Given the description of an element on the screen output the (x, y) to click on. 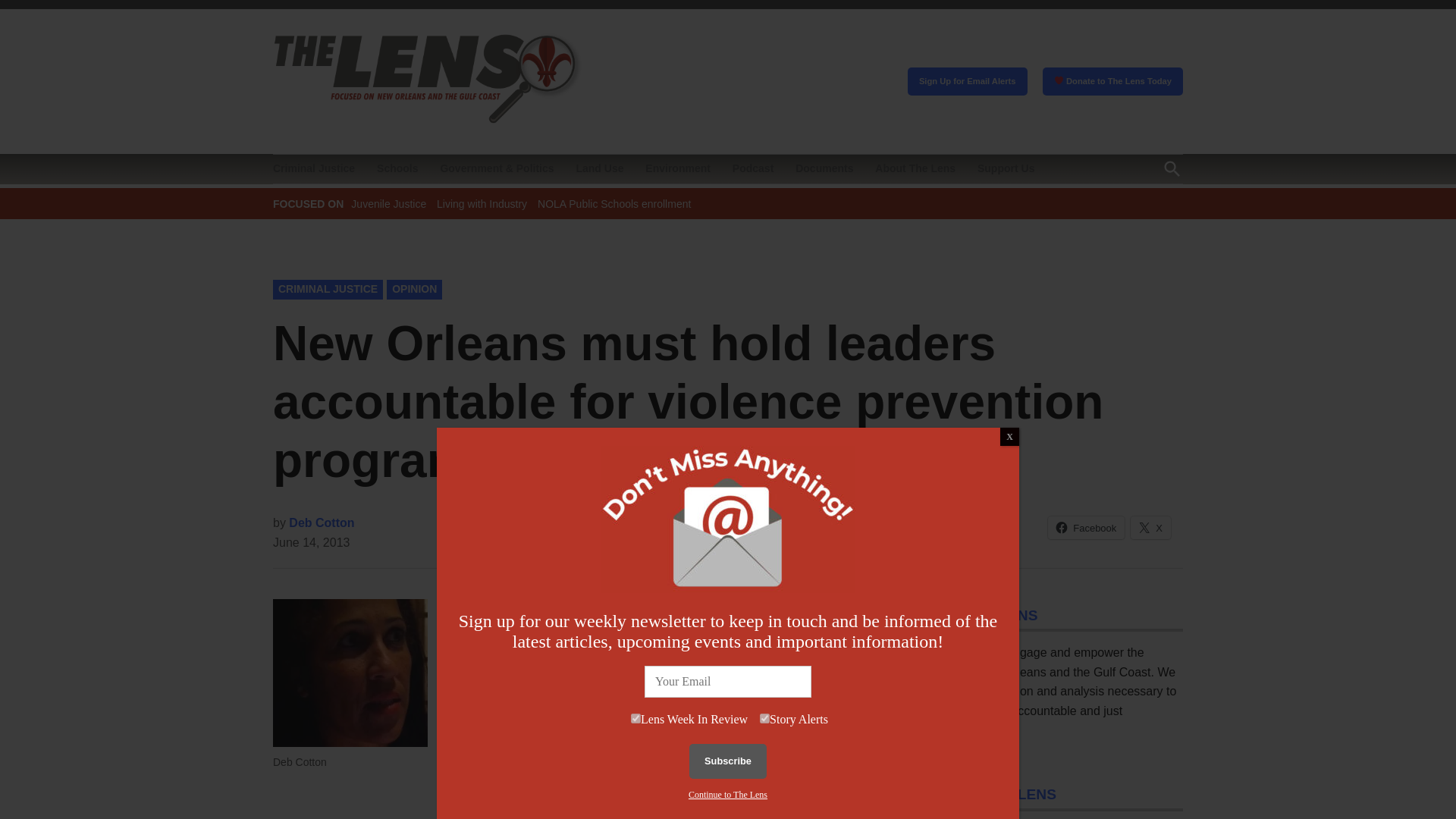
The Lens (613, 102)
Environment (677, 168)
Podcast (752, 168)
Land Use (598, 168)
Facebook (1086, 527)
NOLA Public Schools enrollment (613, 203)
Deb Cotton (320, 522)
CRIMINAL JUSTICE (327, 289)
Juvenile Justice (388, 203)
1 (635, 718)
OPINION (414, 289)
Criminal Justice (317, 168)
Donate to The Lens Today (1112, 81)
About The Lens (914, 168)
Support Us (1005, 168)
